Given the description of an element on the screen output the (x, y) to click on. 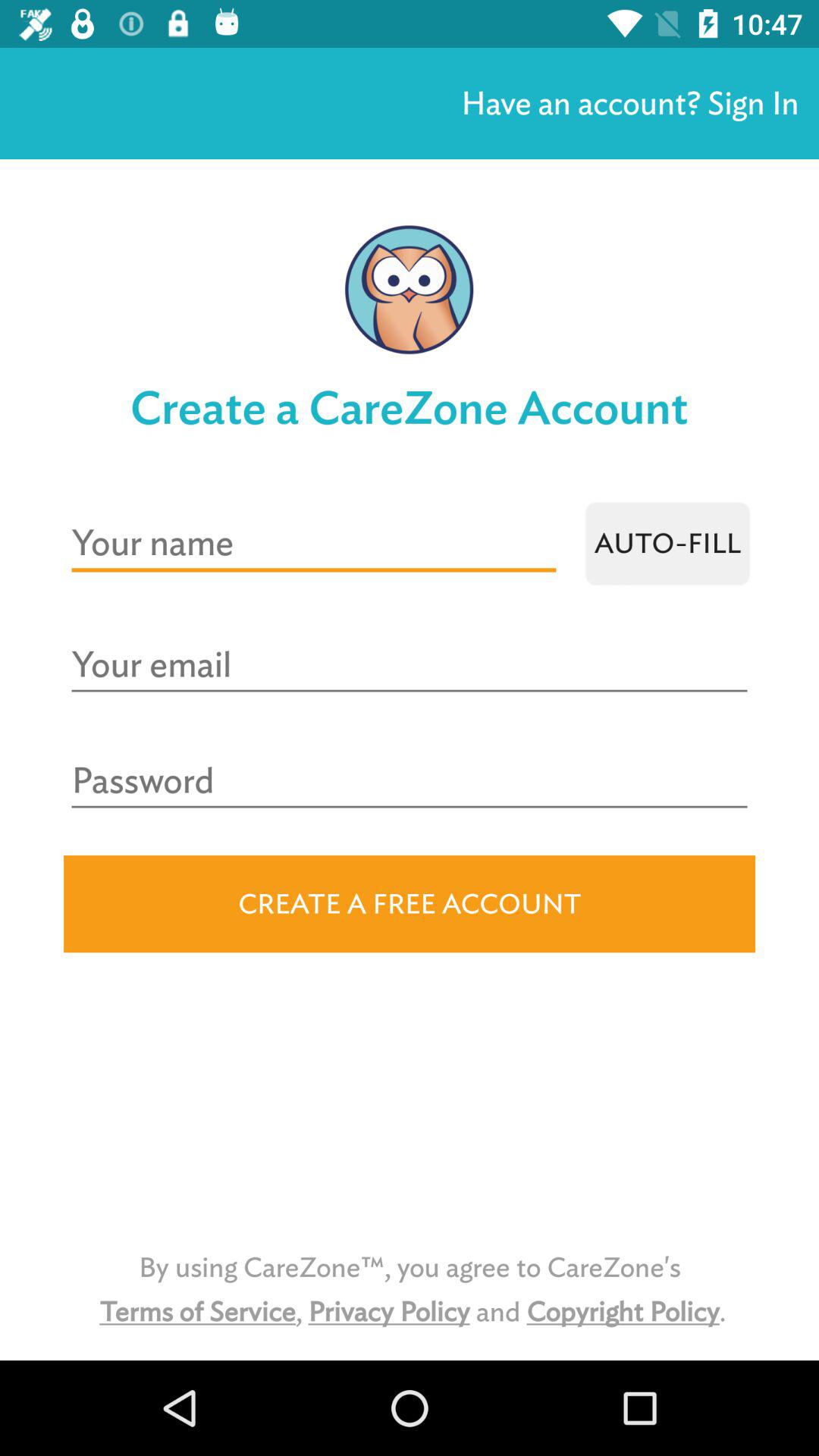
flip until have an account icon (630, 103)
